Given the description of an element on the screen output the (x, y) to click on. 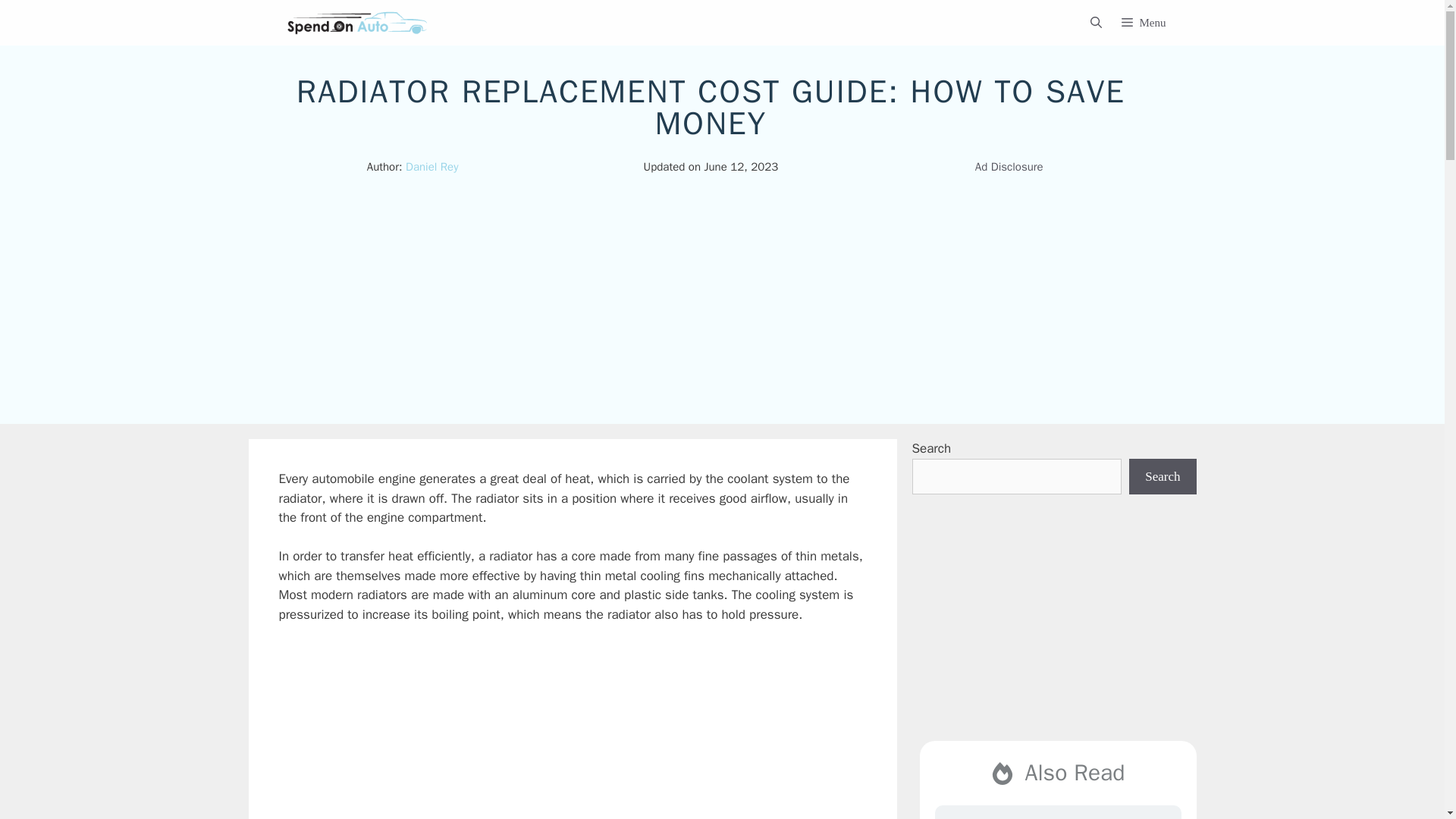
Search (1162, 475)
Advertisement (1053, 626)
Spend On Auto (357, 22)
Advertisement (587, 730)
Menu (1148, 22)
Daniel Rey (432, 166)
